Given the description of an element on the screen output the (x, y) to click on. 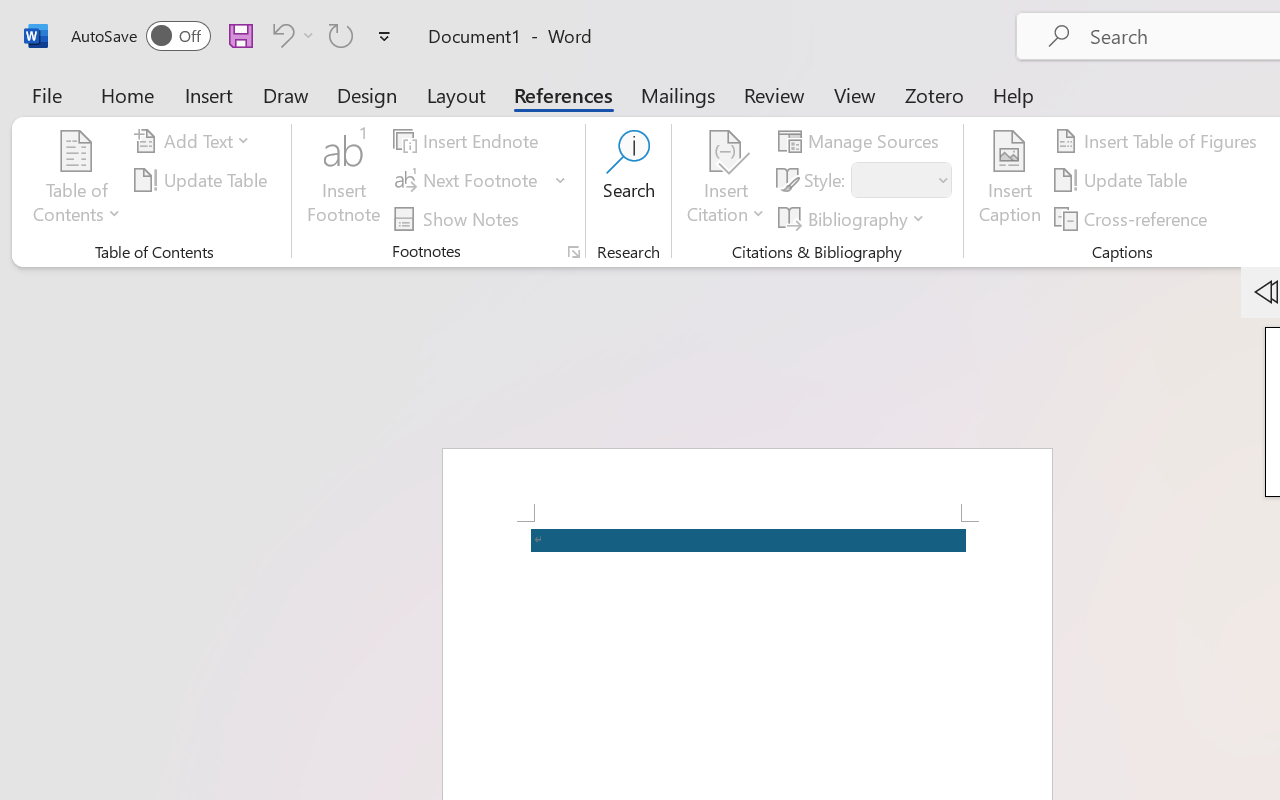
Footnote and Endnote Dialog... (573, 252)
Search (628, 179)
Cross-reference... (1133, 218)
Undo Apply Quick Style Set (290, 35)
Bibliography (854, 218)
Next Footnote (479, 179)
Next Footnote (468, 179)
Insert Endnote (468, 141)
Insert Citation (726, 179)
